Given the description of an element on the screen output the (x, y) to click on. 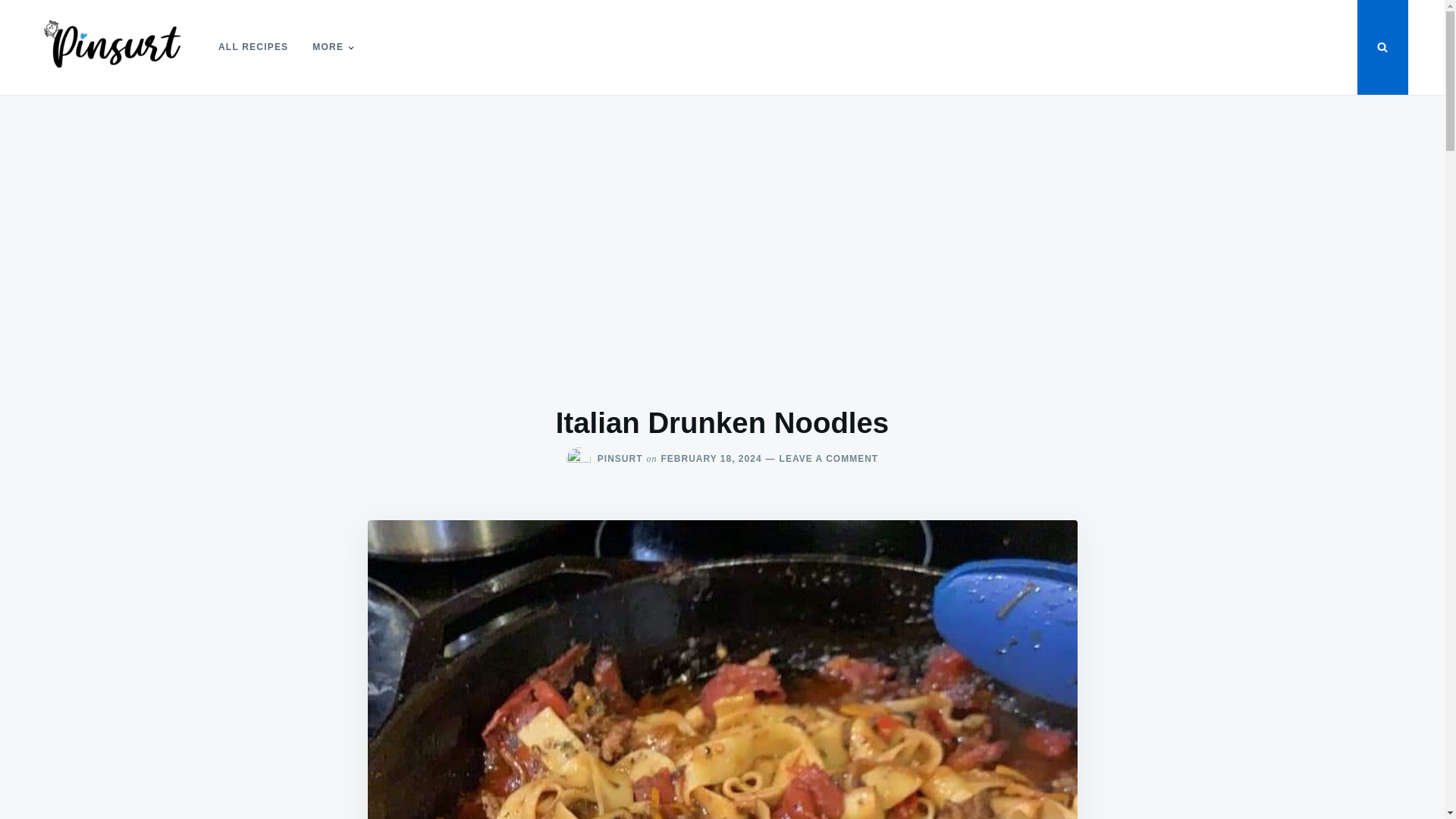
ALL RECIPES (252, 47)
FEBRUARY 18, 2024 (820, 458)
PINSURT (711, 458)
Advertisement (619, 458)
